Given the description of an element on the screen output the (x, y) to click on. 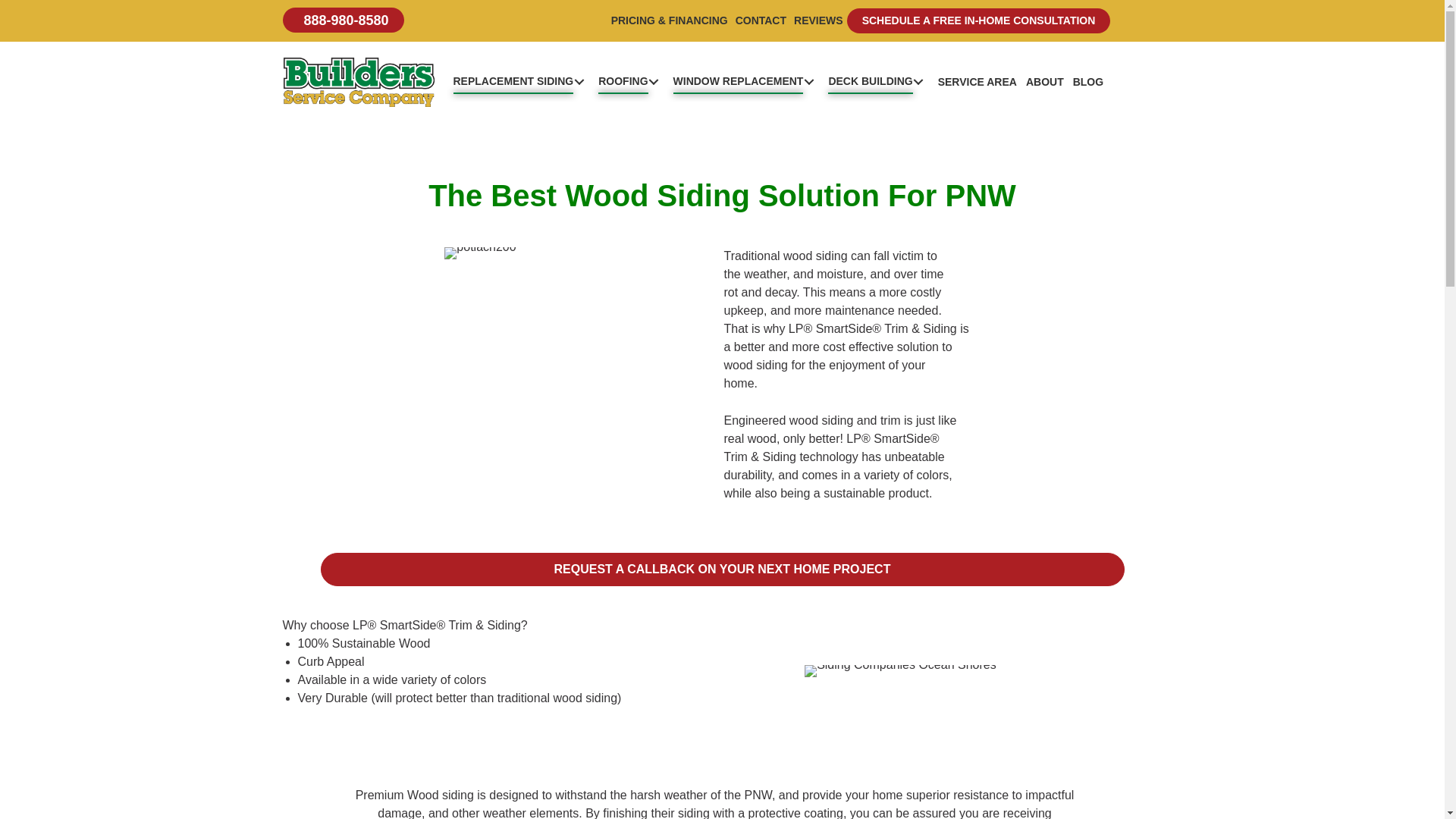
REPLACEMENT SIDING (521, 80)
ROOFING (631, 80)
SCHEDULE A FREE IN-HOME CONSULTATION (978, 20)
wood siding (900, 671)
888-980-8580 (342, 19)
potlach200 (479, 253)
REVIEWS (818, 20)
WINDOW REPLACEMENT (747, 80)
DECK BUILDING (878, 80)
CONTACT (761, 20)
